Given the description of an element on the screen output the (x, y) to click on. 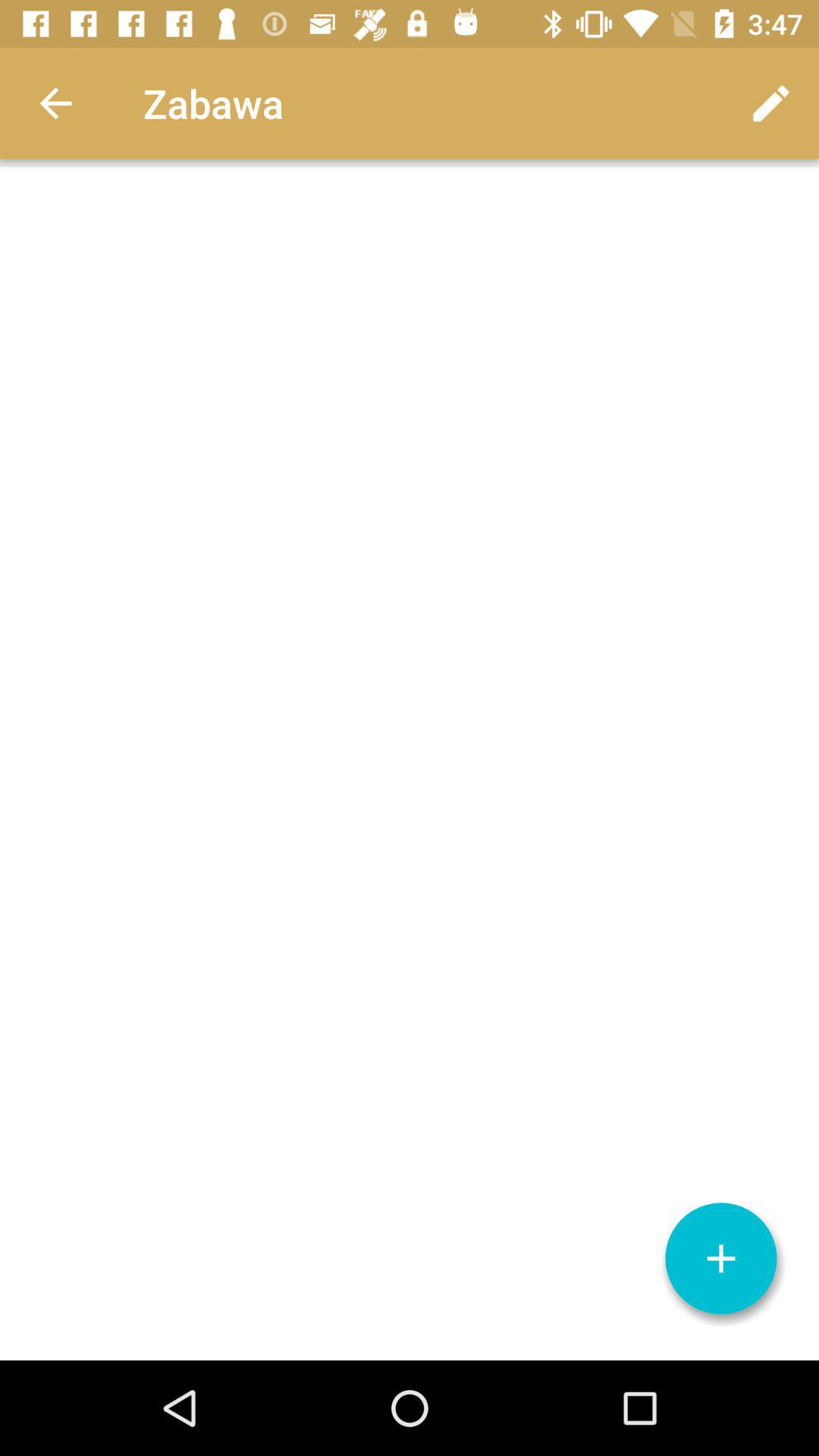
launch the item next to the zabawa item (771, 103)
